Given the description of an element on the screen output the (x, y) to click on. 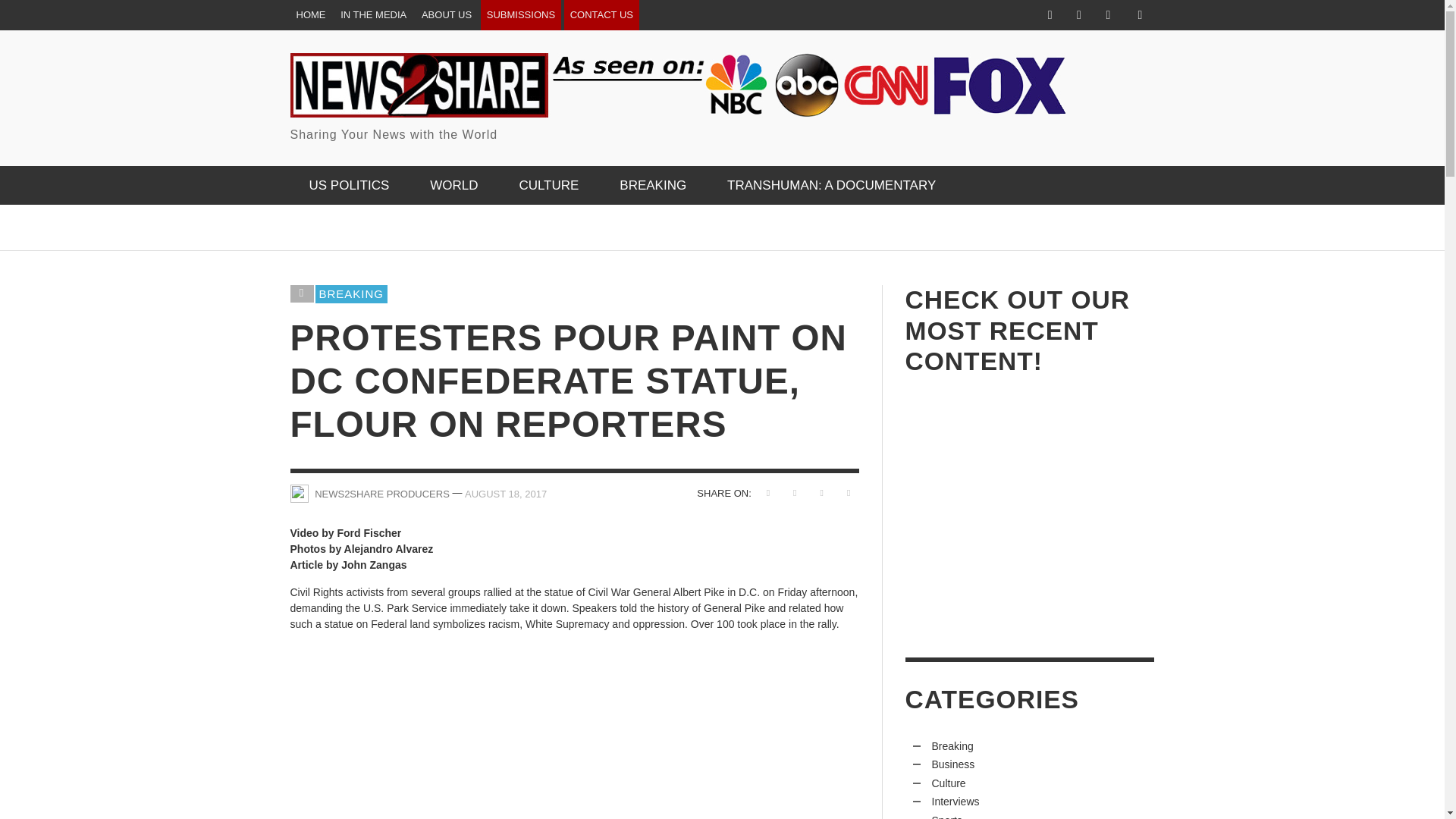
CONTACT US (601, 15)
HOME (310, 15)
WORLD (453, 185)
Twitter (1078, 15)
Sharing Your News with the World (677, 98)
ABOUT US (445, 15)
US POLITICS (348, 185)
SUBMISSIONS (520, 15)
Youtube (1107, 15)
Facebook (1049, 15)
CULTURE (547, 185)
IN THE MEDIA (373, 15)
